Given the description of an element on the screen output the (x, y) to click on. 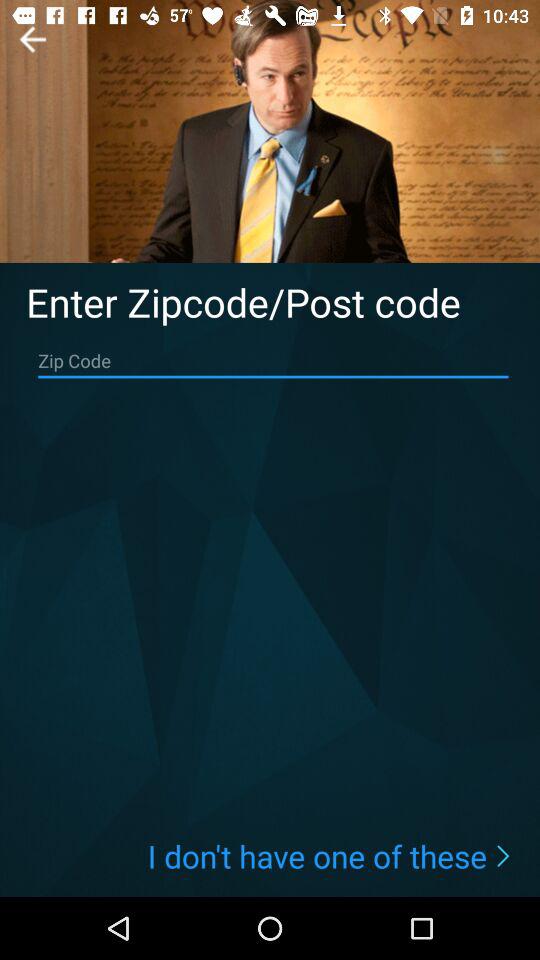
enter the zip code (273, 361)
